Given the description of an element on the screen output the (x, y) to click on. 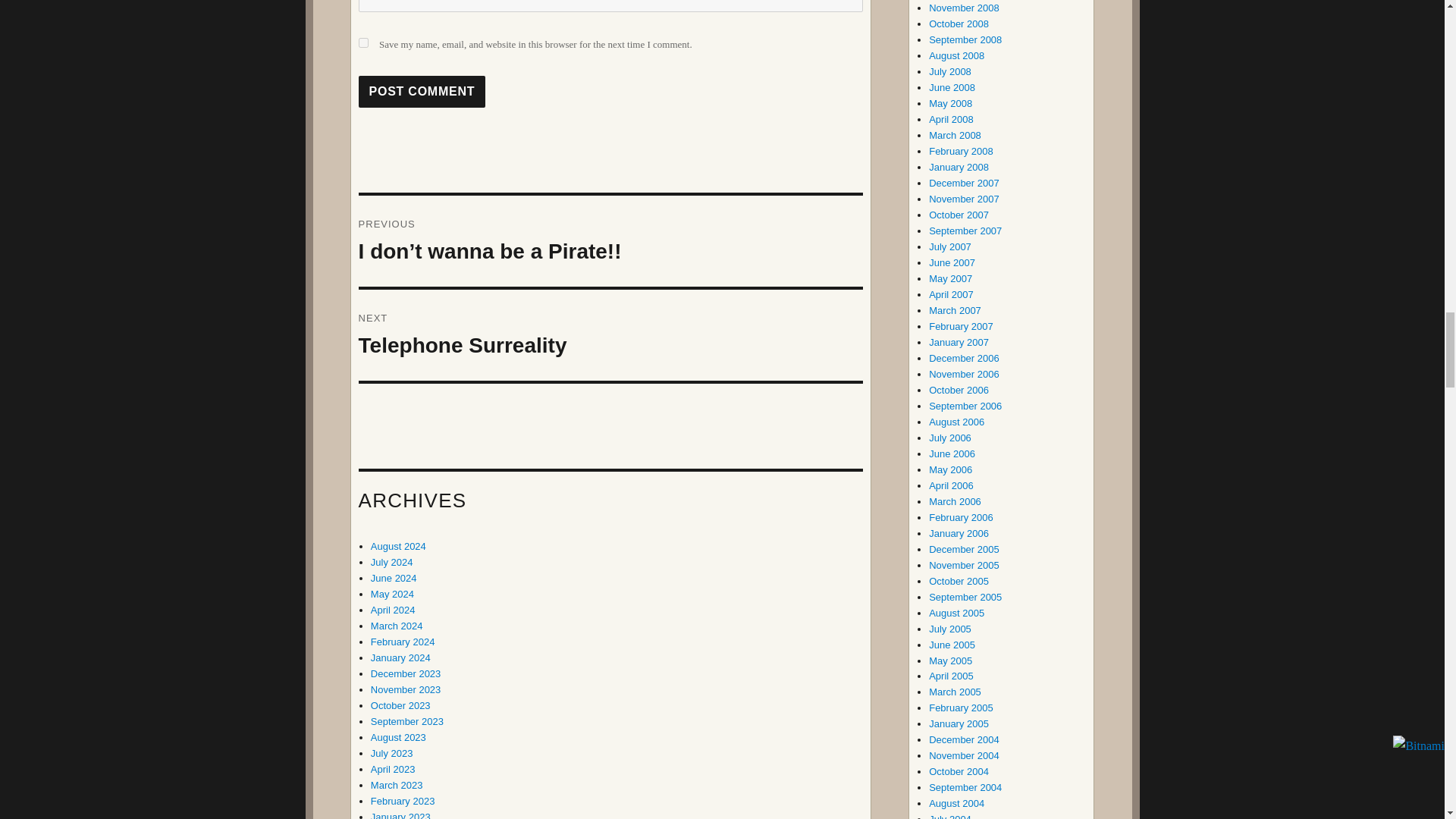
July 2023 (392, 753)
Post Comment (422, 91)
August 2023 (398, 737)
November 2023 (406, 689)
January 2023 (400, 815)
May 2024 (392, 593)
Post Comment (422, 91)
March 2023 (397, 785)
March 2024 (397, 625)
